Given the description of an element on the screen output the (x, y) to click on. 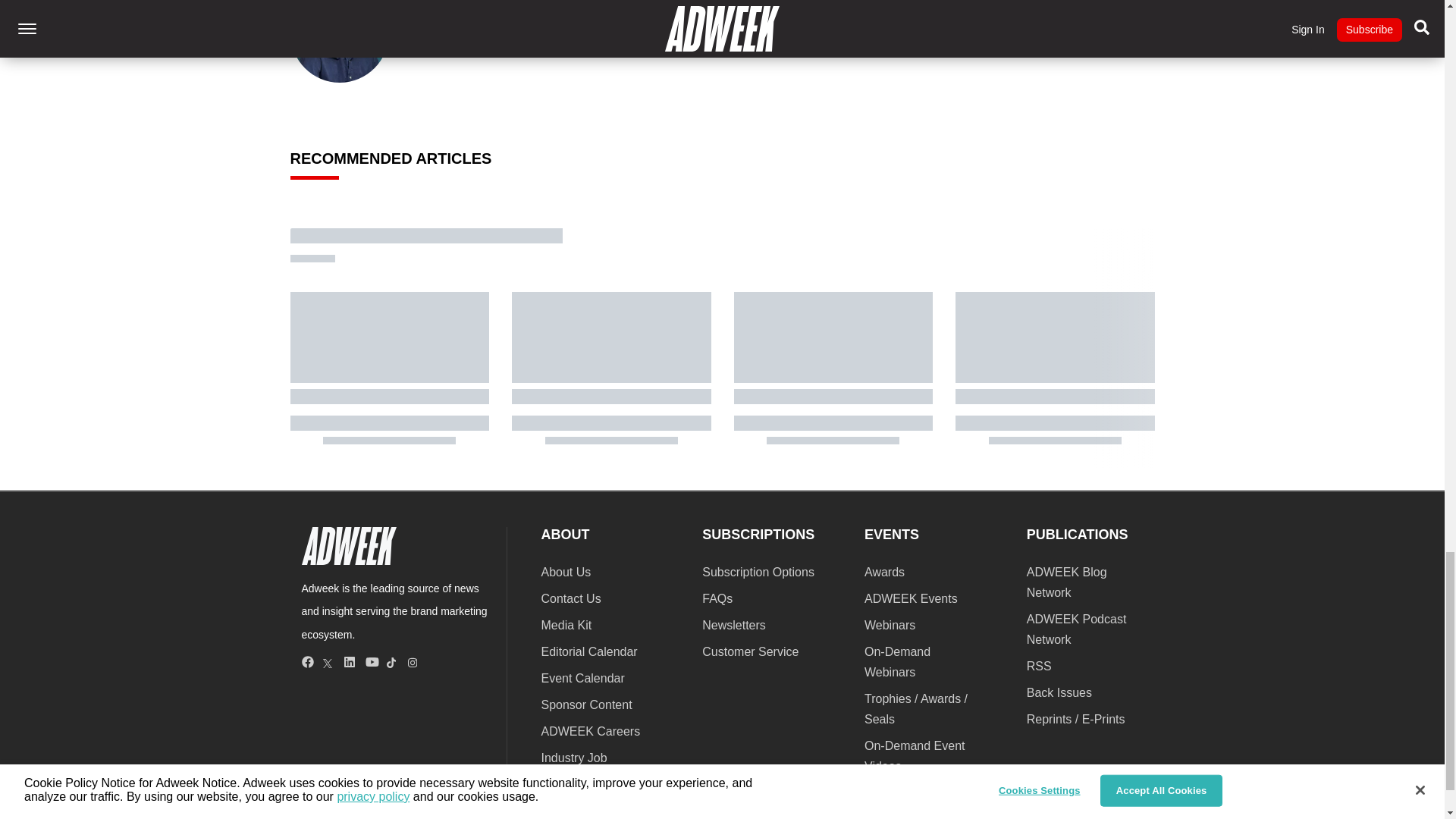
Richard Collings (339, 41)
